Given the description of an element on the screen output the (x, y) to click on. 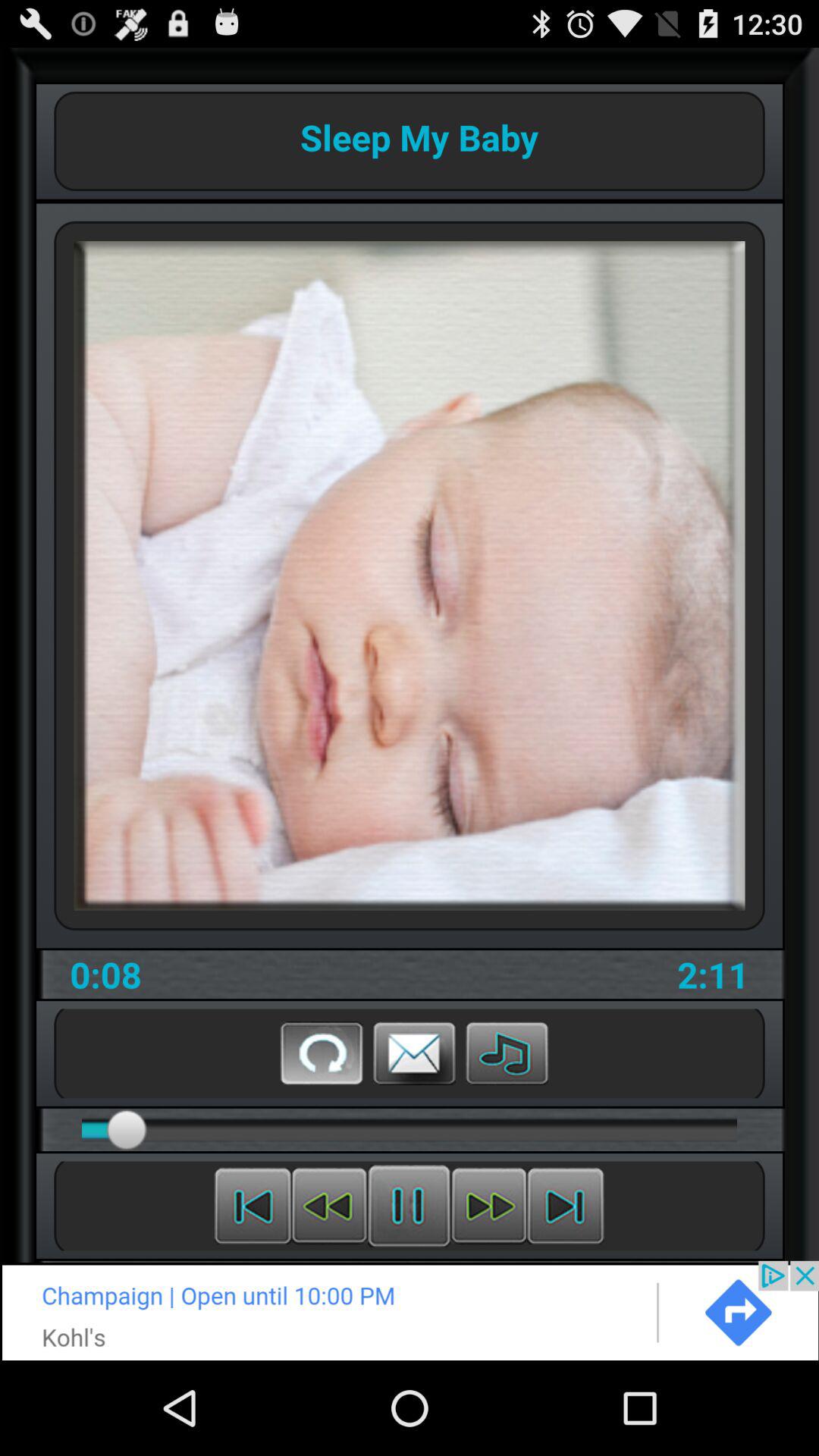
rewind audio (329, 1205)
